Given the description of an element on the screen output the (x, y) to click on. 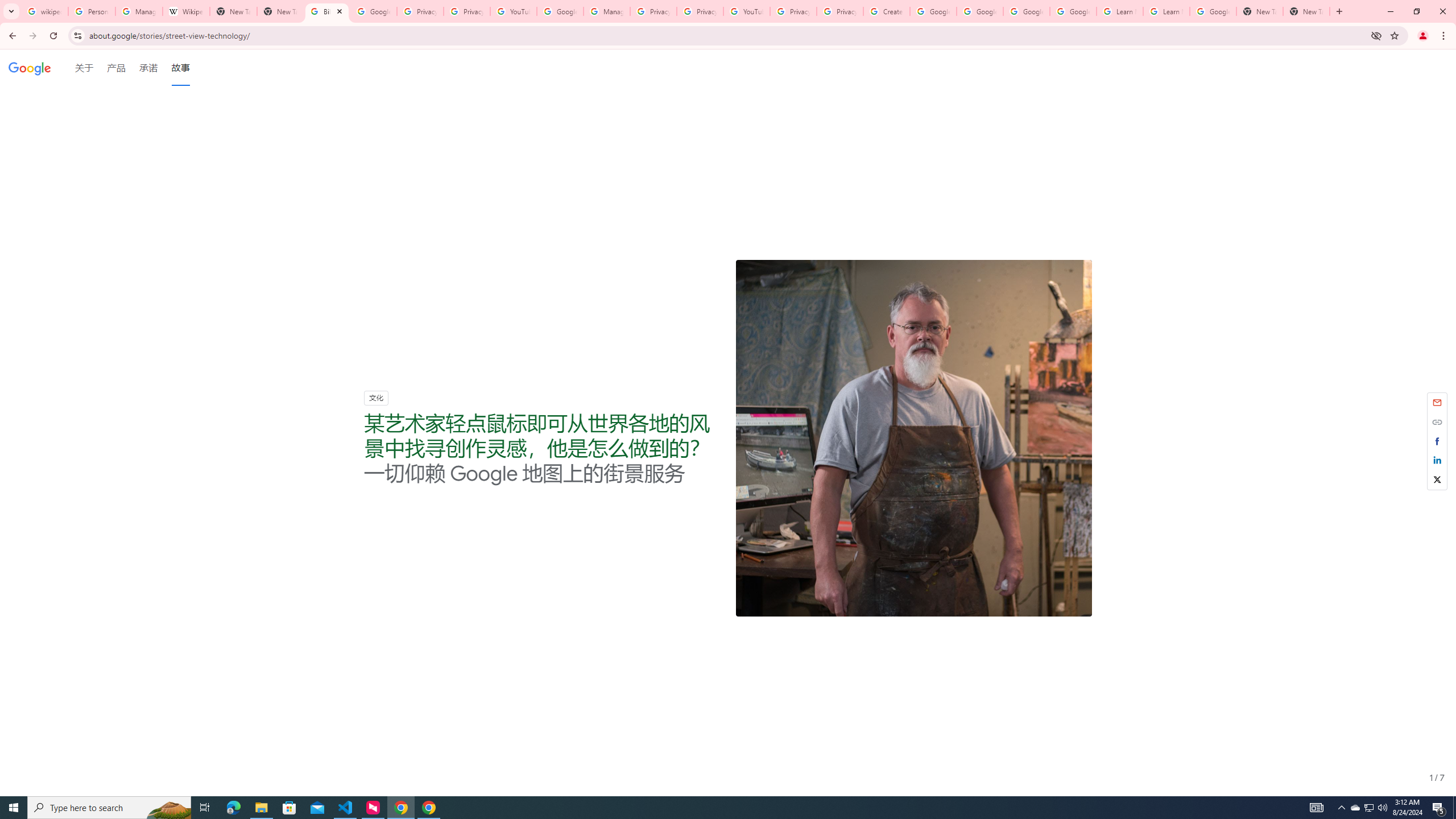
Google Account (1213, 11)
YouTube (512, 11)
New Tab (1259, 11)
Create your Google Account (886, 11)
Google Account Help (1073, 11)
